Given the description of an element on the screen output the (x, y) to click on. 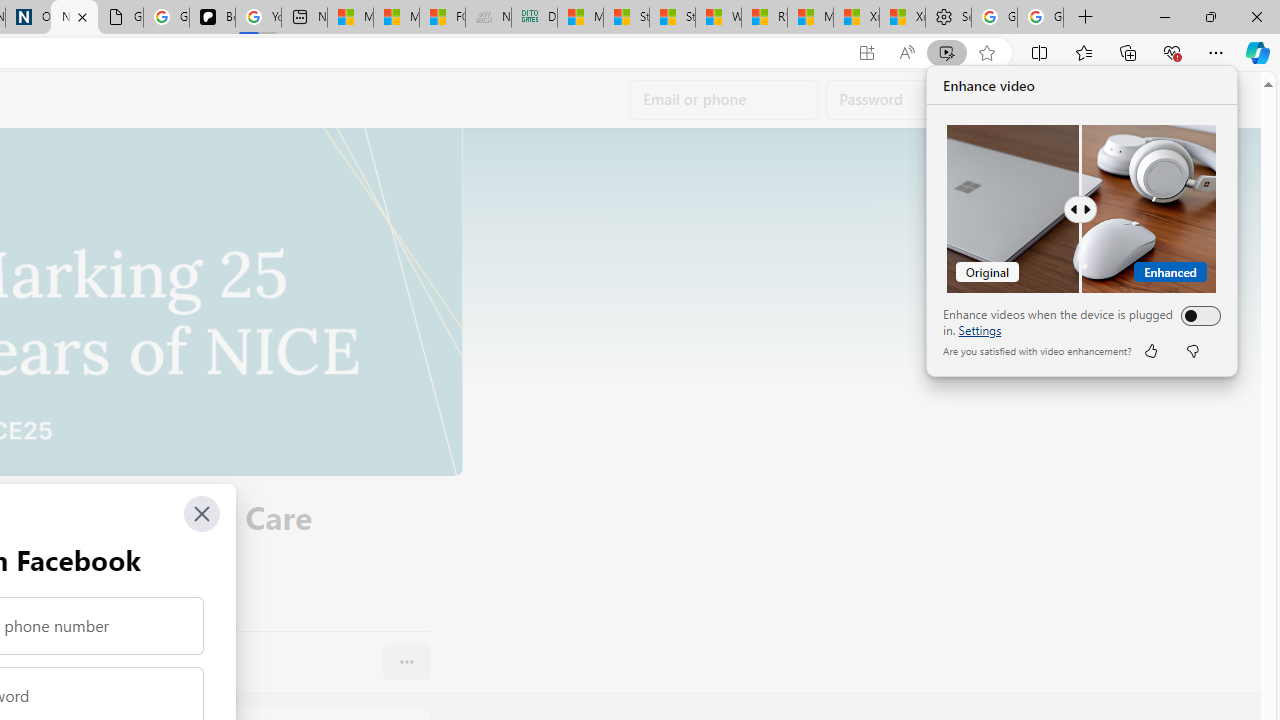
DITOGAMES AG Imprint (534, 17)
Navy Quest (487, 17)
FOX News - MSN (441, 17)
New Tab (1085, 17)
Close tab (82, 16)
App available. Install Facebook (867, 53)
Restore (1210, 16)
dislike (1192, 350)
New tab (303, 17)
Enhance videos (1196, 316)
like (1150, 350)
Settings (979, 330)
Close (201, 514)
